Given the description of an element on the screen output the (x, y) to click on. 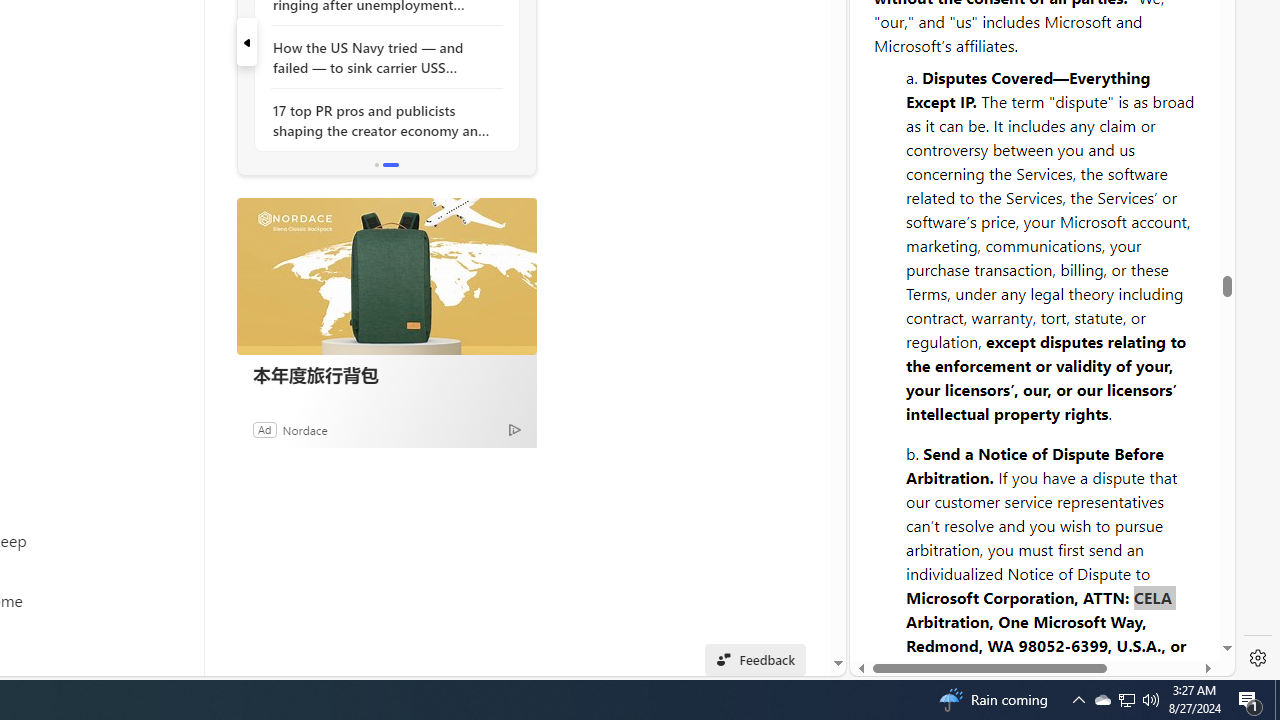
Ad (264, 429)
Privacy (922, 602)
Feedback (1155, 602)
Open in New Tab (1042, 631)
